Given the description of an element on the screen output the (x, y) to click on. 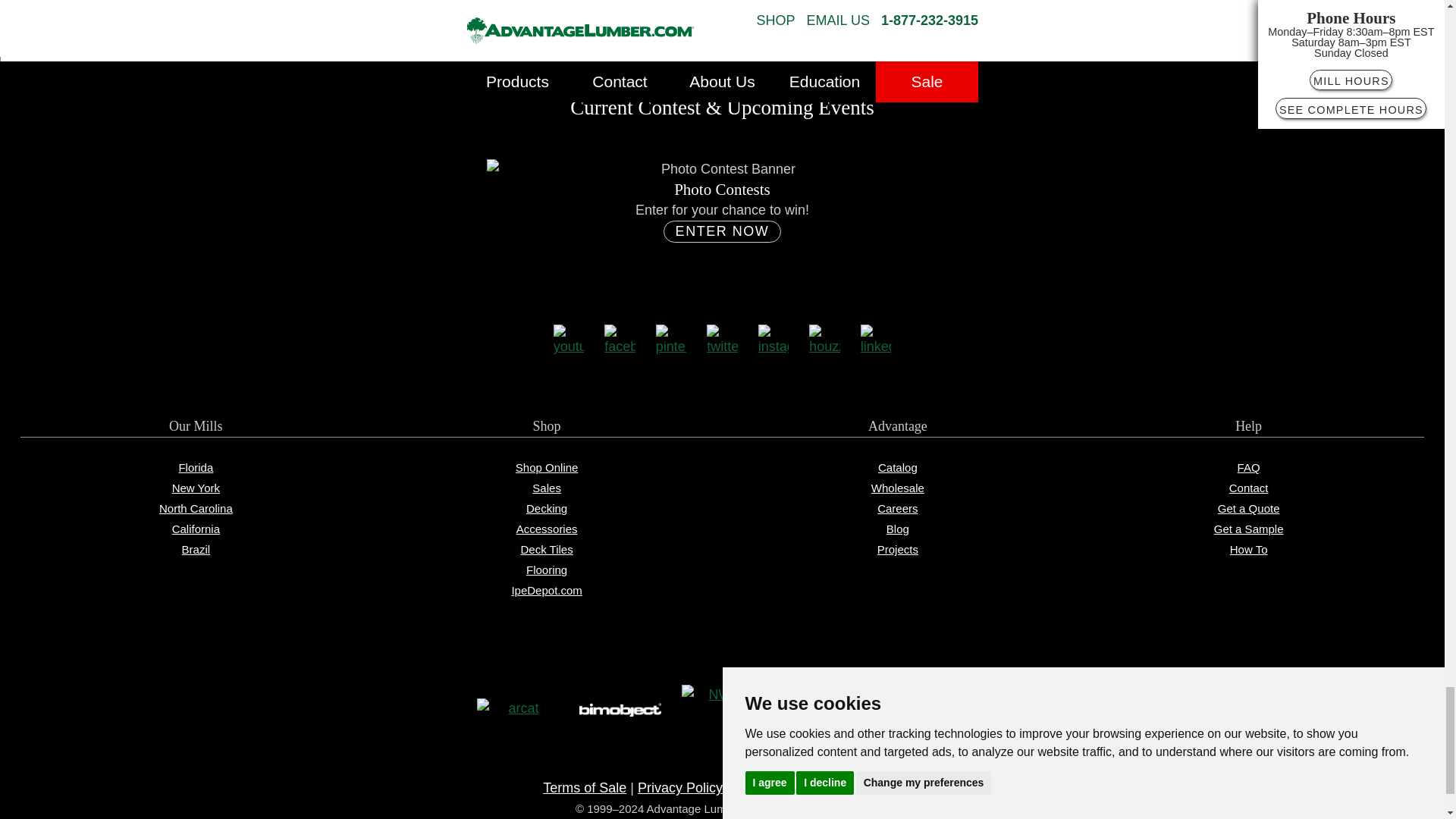
Like Us on Facebook (619, 339)
arcat (516, 709)
Follow Us on Twitter (722, 339)
BIM Ojects (620, 709)
Get Great Ideas on Pinterest (671, 339)
Get Inspired on Houzz (824, 339)
Newsletter Sign Up (722, 18)
IWPA International Wood Products Association (825, 709)
NADRA (926, 709)
Link with Us on LinkedIn (875, 339)
Watch Videos on YouTube (569, 339)
NWFA (721, 709)
